Given the description of an element on the screen output the (x, y) to click on. 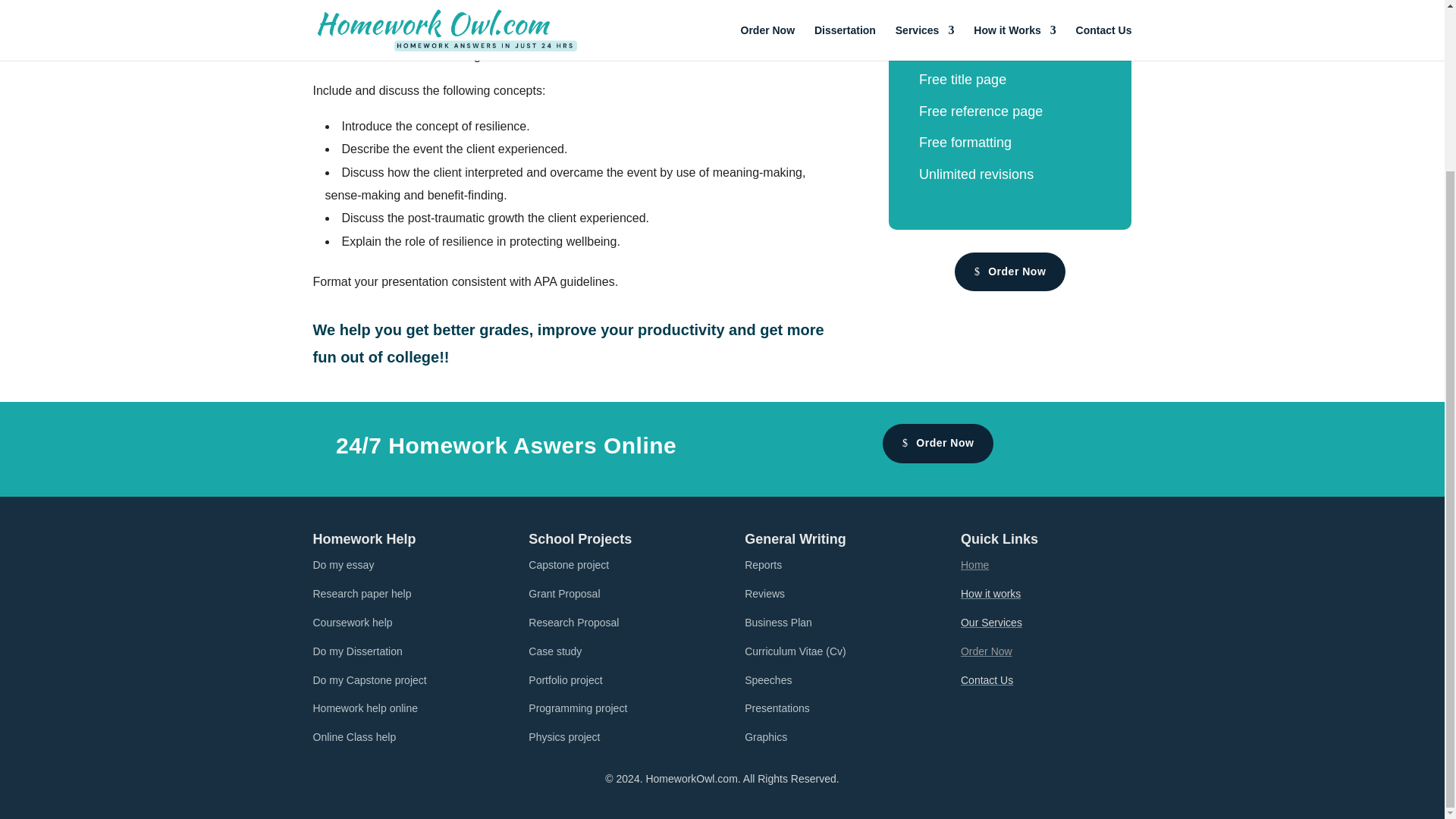
Order Now (985, 651)
Home (974, 564)
